Given the description of an element on the screen output the (x, y) to click on. 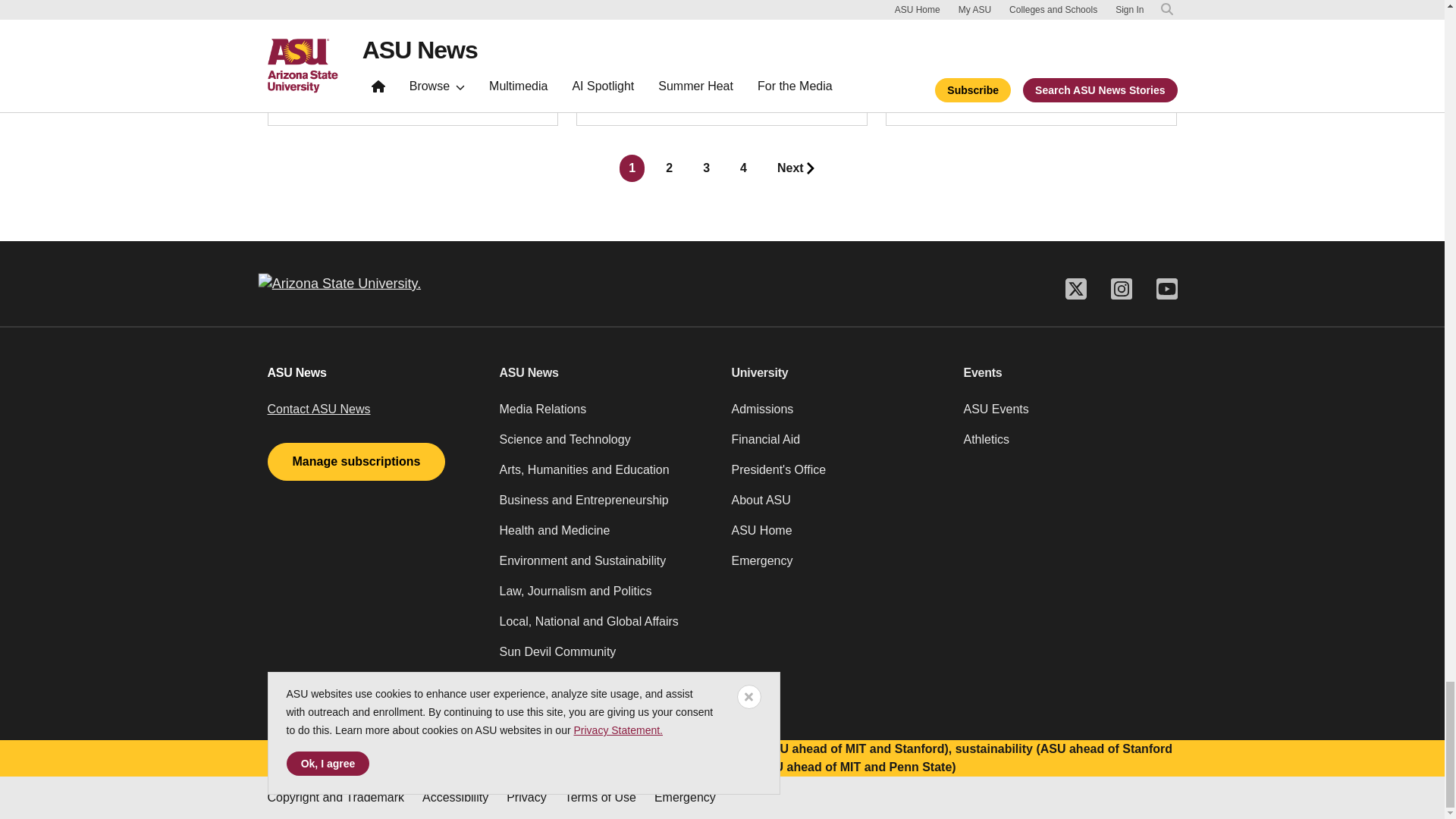
Go to page 3 (706, 167)
Go to last page (796, 167)
Current page (632, 167)
Go to page 4 (742, 167)
Go to page 2 (668, 167)
